Given the description of an element on the screen output the (x, y) to click on. 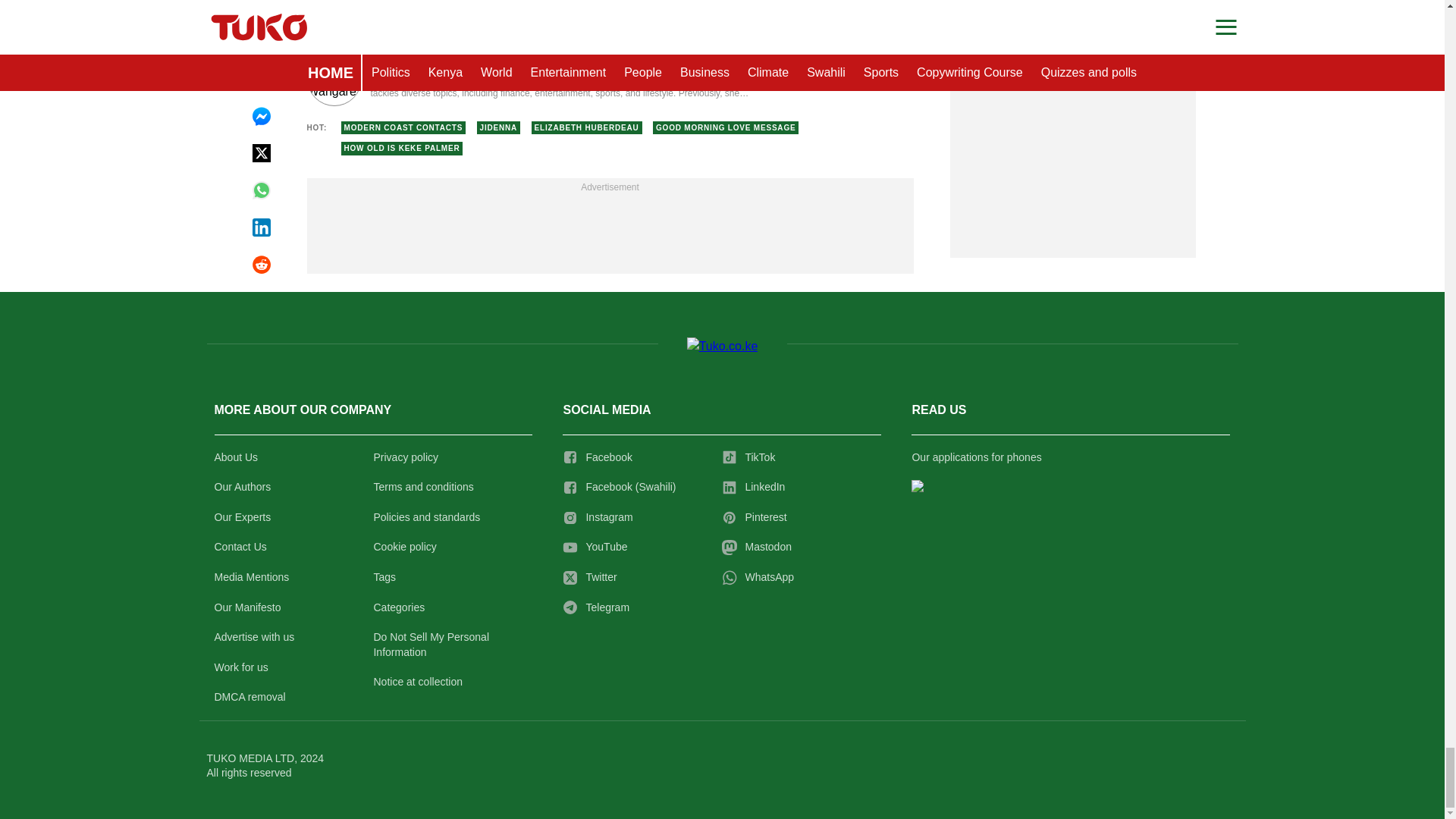
Author page (533, 78)
